Given the description of an element on the screen output the (x, y) to click on. 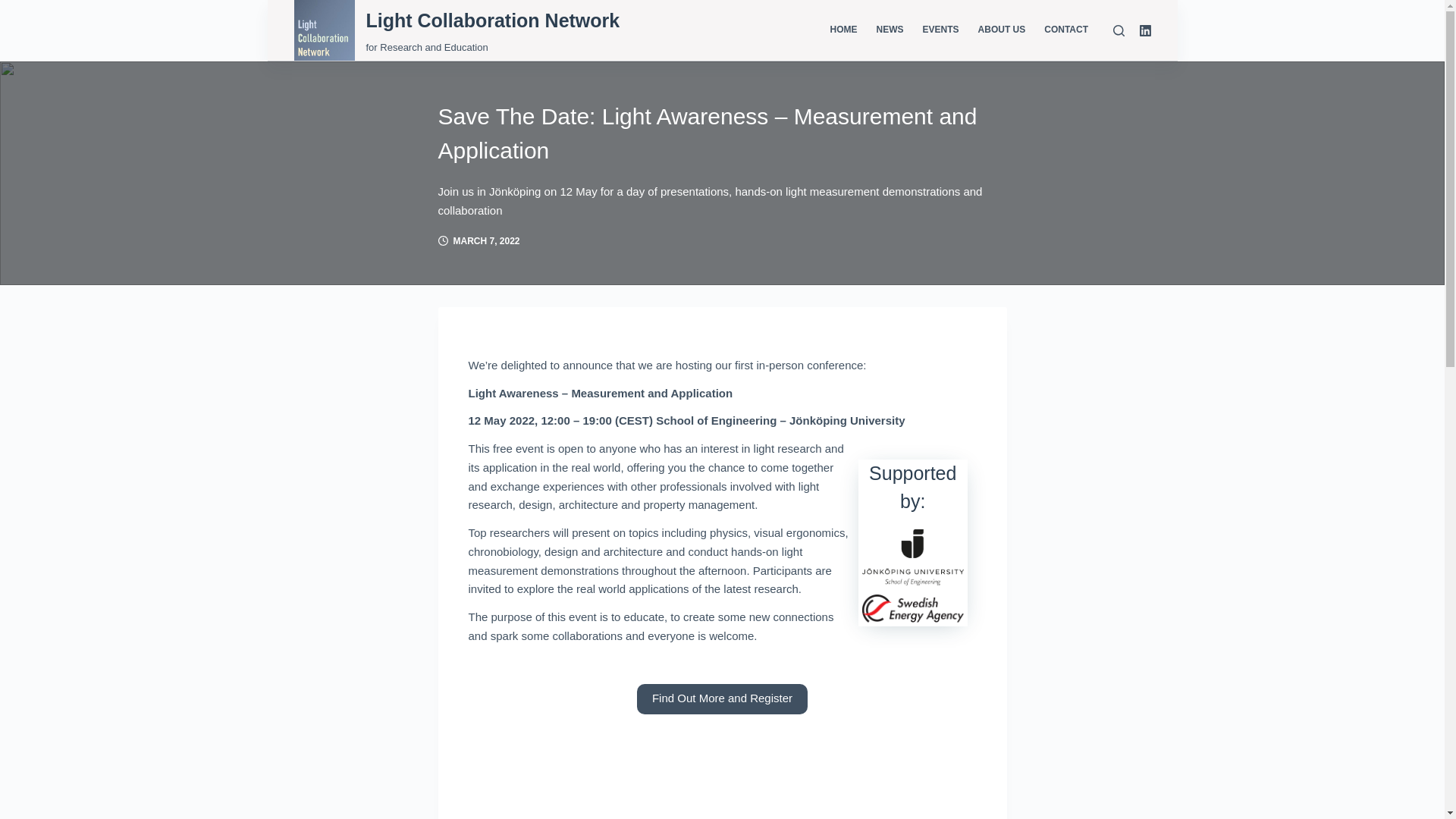
EVENTS (940, 30)
Skip to content (15, 7)
CONTACT (1066, 30)
ABOUT US (1001, 30)
Light Collaboration Network (492, 20)
Find Out More and Register (722, 698)
